Given the description of an element on the screen output the (x, y) to click on. 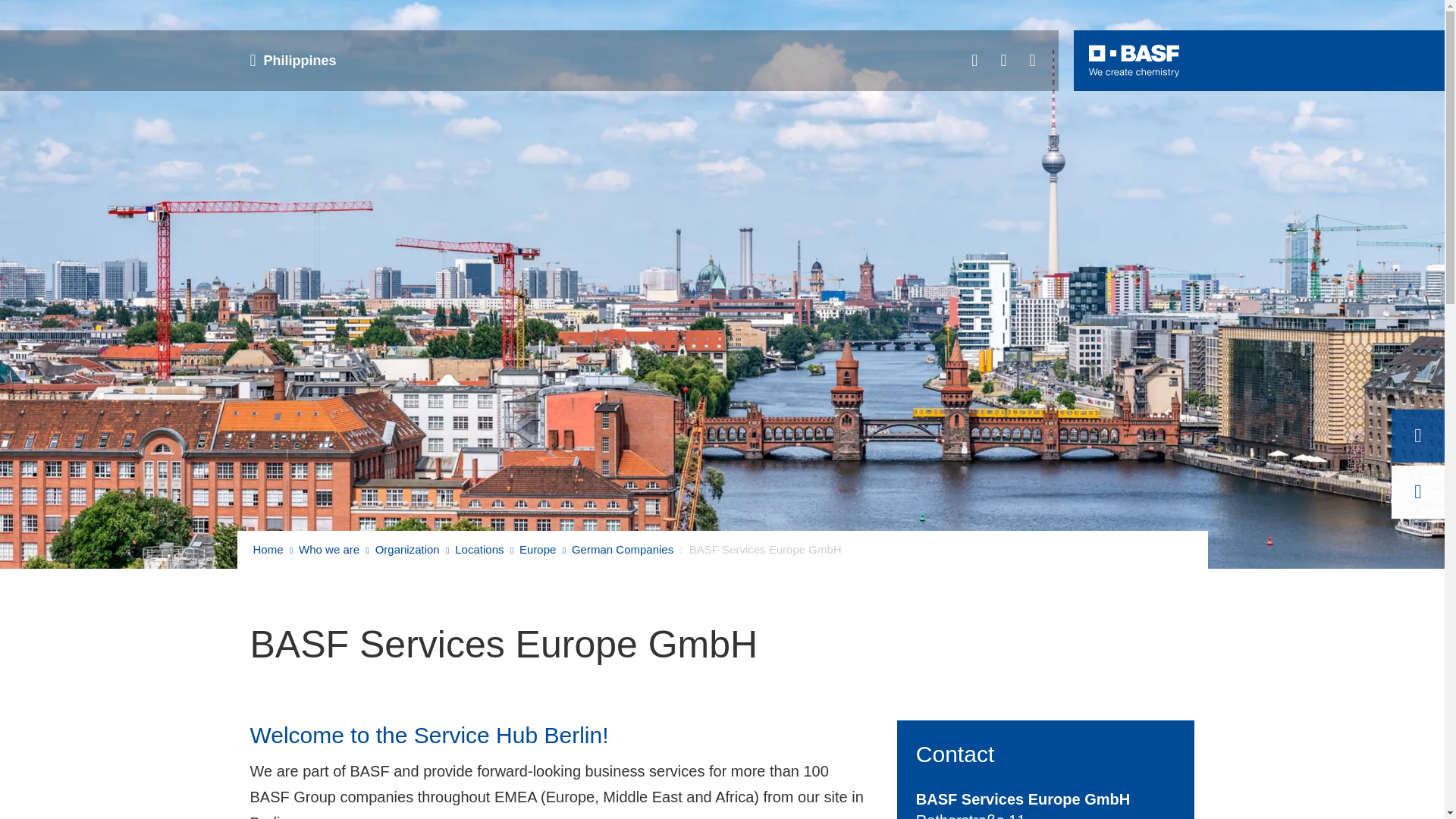
Accessibility mode (1032, 60)
Philippines (298, 60)
